Given the description of an element on the screen output the (x, y) to click on. 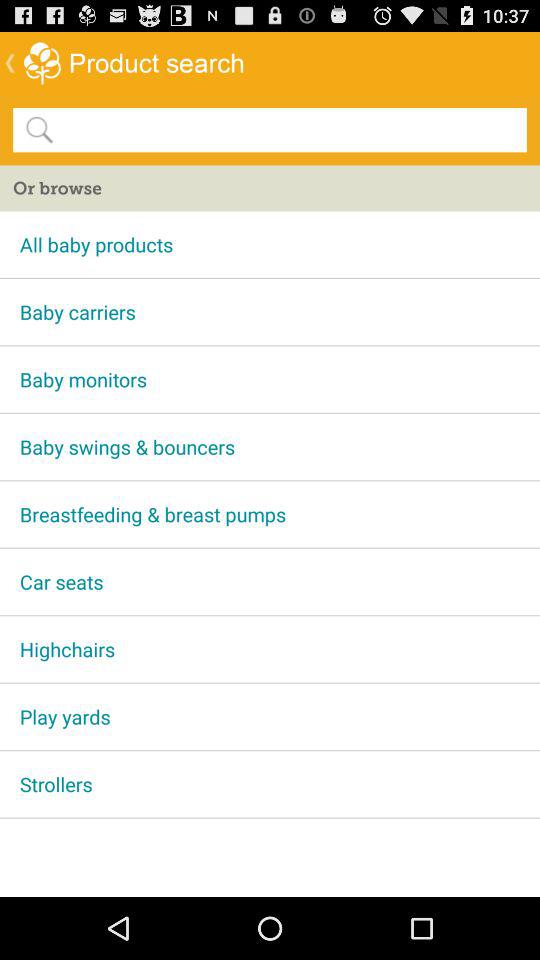
click icon below the breastfeeding & breast pumps item (270, 581)
